Given the description of an element on the screen output the (x, y) to click on. 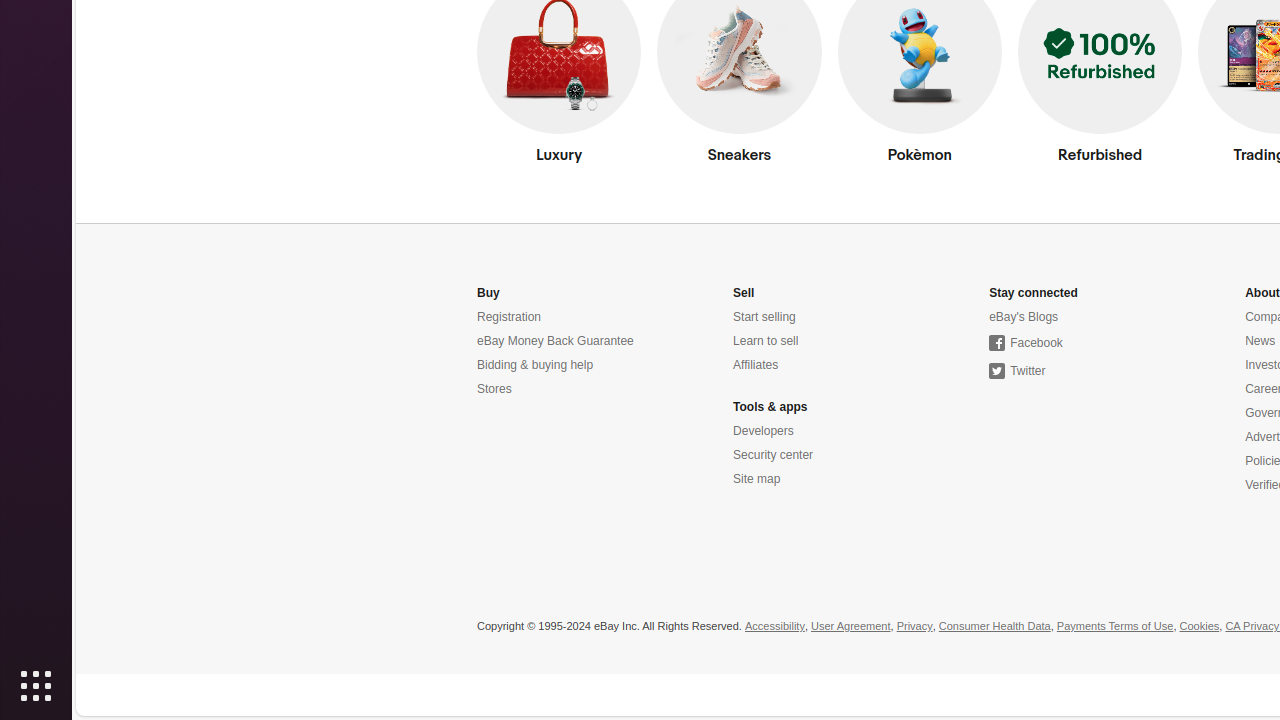
Payments Terms of Use Element type: link (1115, 627)
Accessibility Element type: link (774, 627)
Start selling Element type: link (764, 317)
Security center Element type: link (773, 455)
Privacy Element type: link (914, 627)
